Given the description of an element on the screen output the (x, y) to click on. 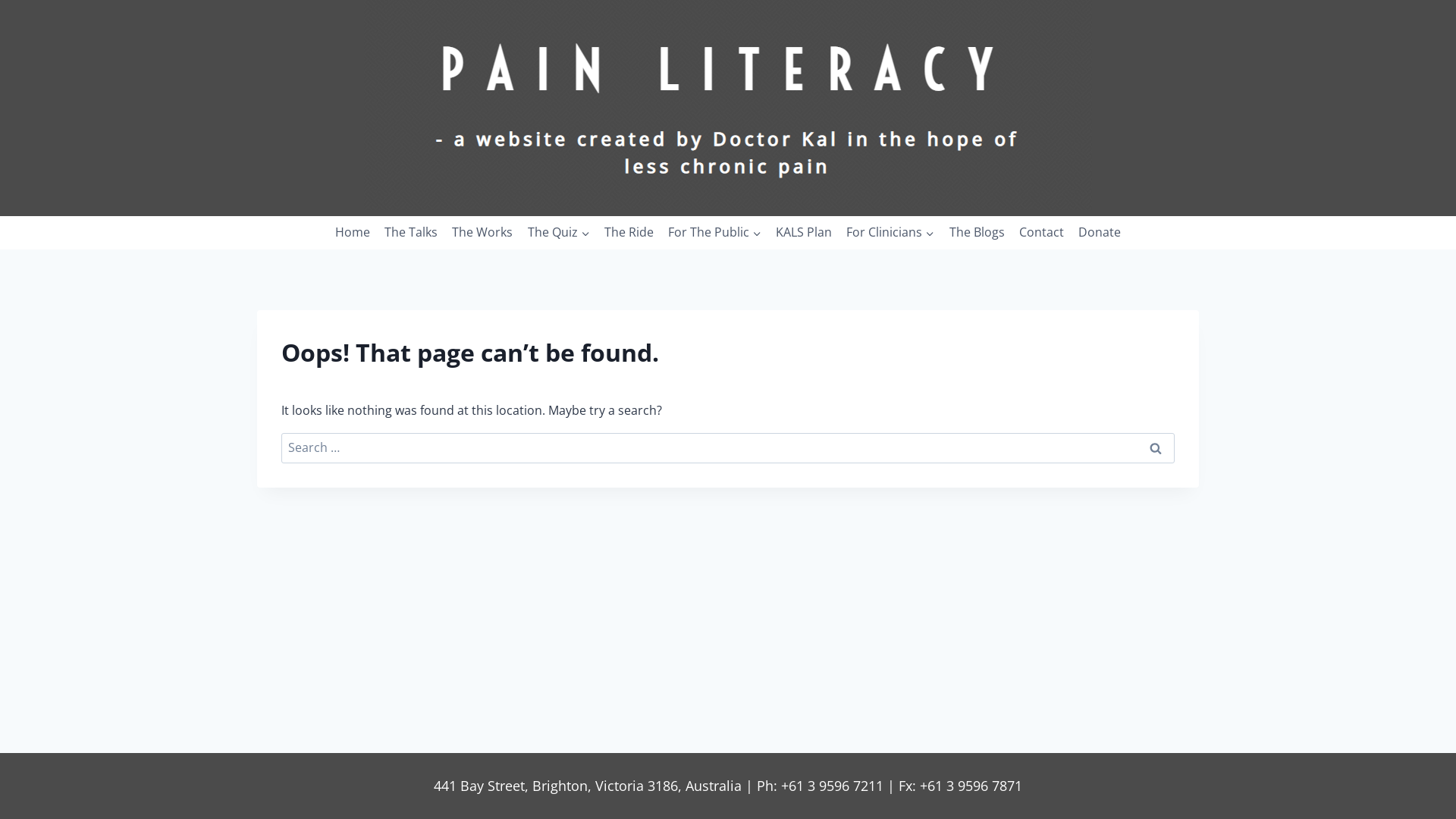
The Works Element type: text (482, 233)
For Clinicians Element type: text (890, 233)
For The Public Element type: text (714, 233)
Search Element type: text (1155, 448)
The Talks Element type: text (411, 233)
The Blogs Element type: text (976, 233)
Donate Element type: text (1098, 233)
Home Element type: text (351, 233)
The Ride Element type: text (628, 233)
The Quiz Element type: text (558, 233)
KALS Plan Element type: text (803, 233)
Contact Element type: text (1040, 233)
